Given the description of an element on the screen output the (x, y) to click on. 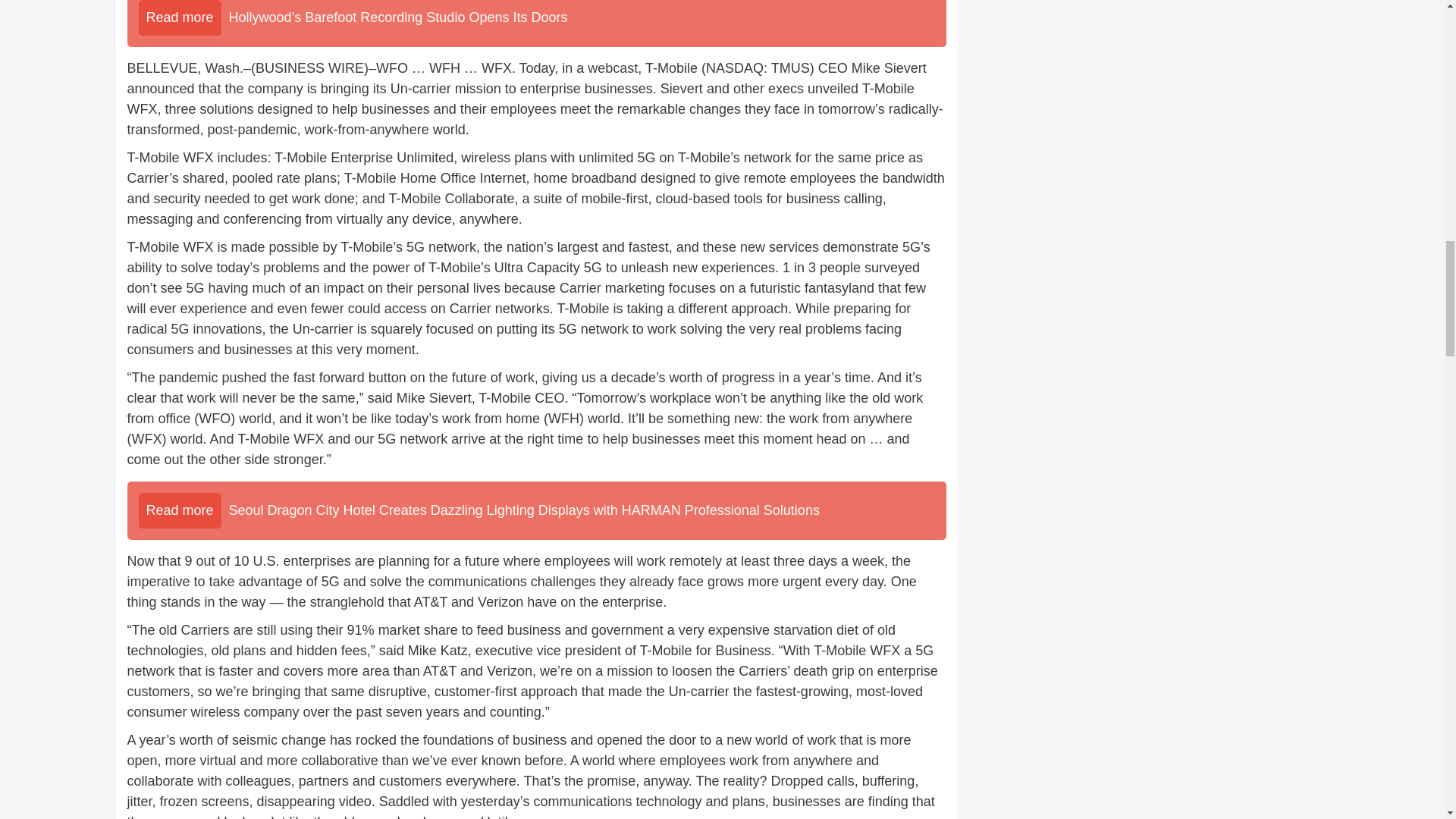
radical 5G innovations (195, 328)
webcast (612, 68)
